Given the description of an element on the screen output the (x, y) to click on. 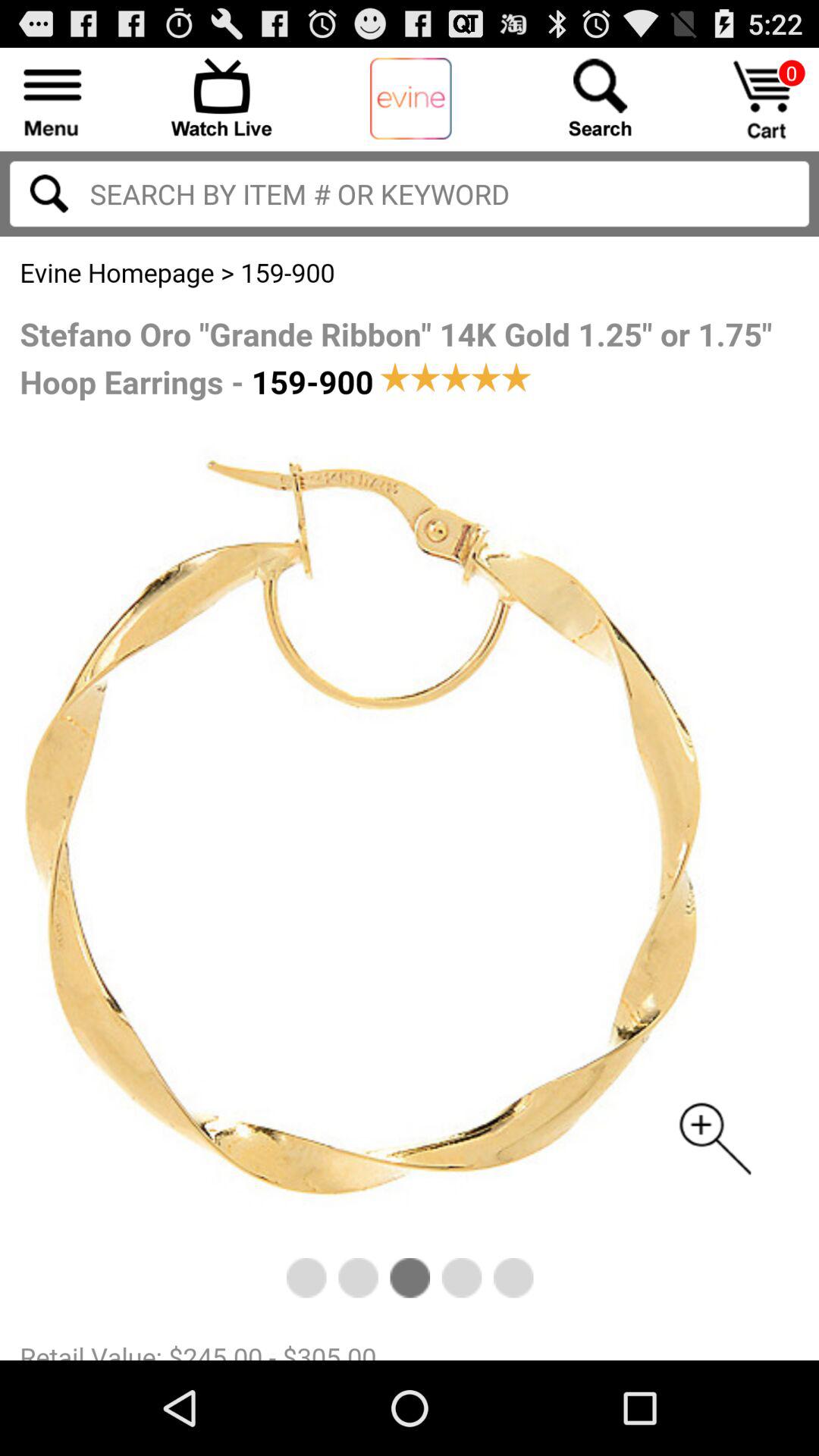
show full details of earrings (409, 798)
